Given the description of an element on the screen output the (x, y) to click on. 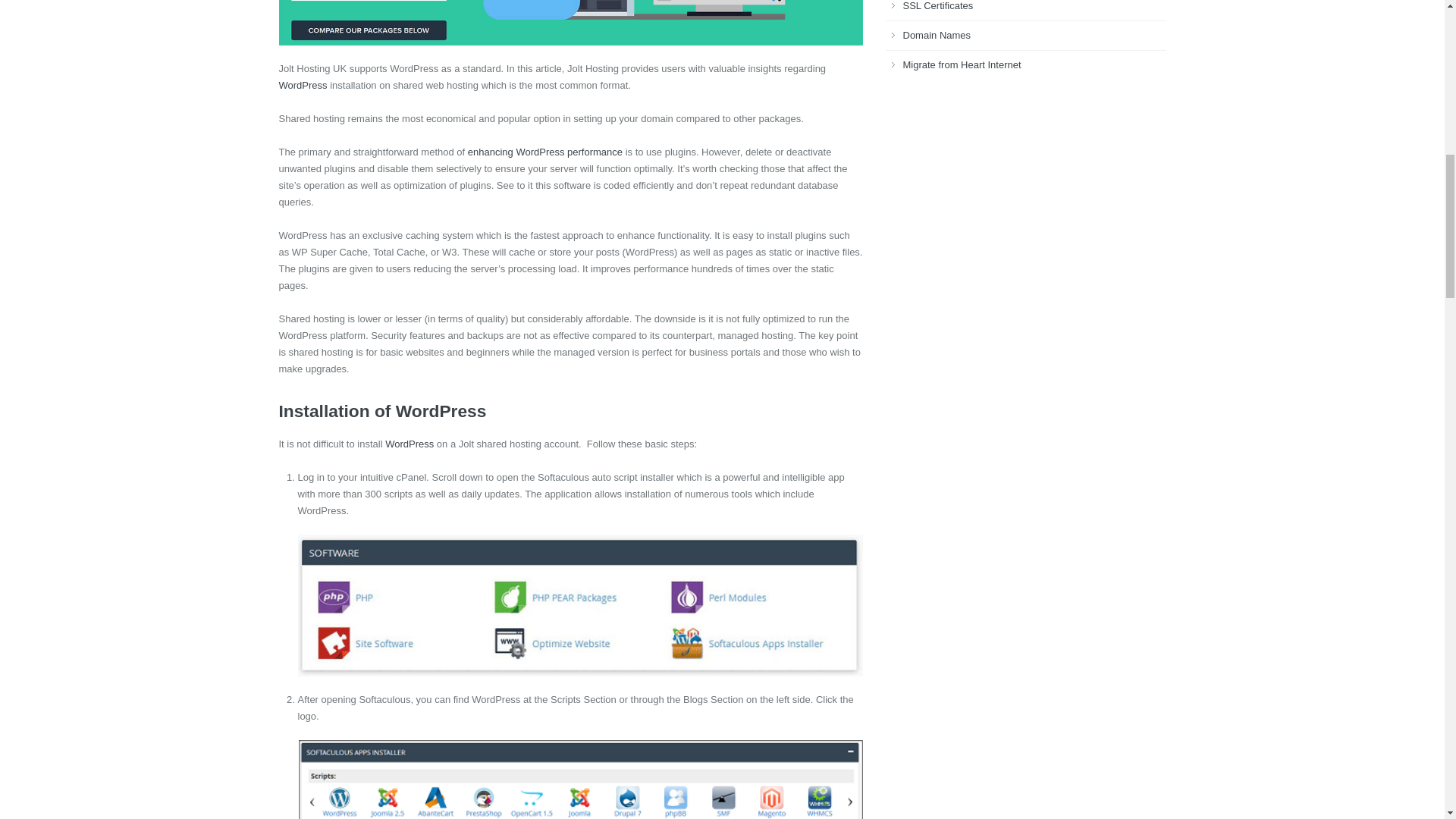
enhancing WordPress performance (545, 152)
WordPress (303, 84)
Domain Names (936, 34)
SSL Certificates (937, 5)
WordPress (409, 443)
